Given the description of an element on the screen output the (x, y) to click on. 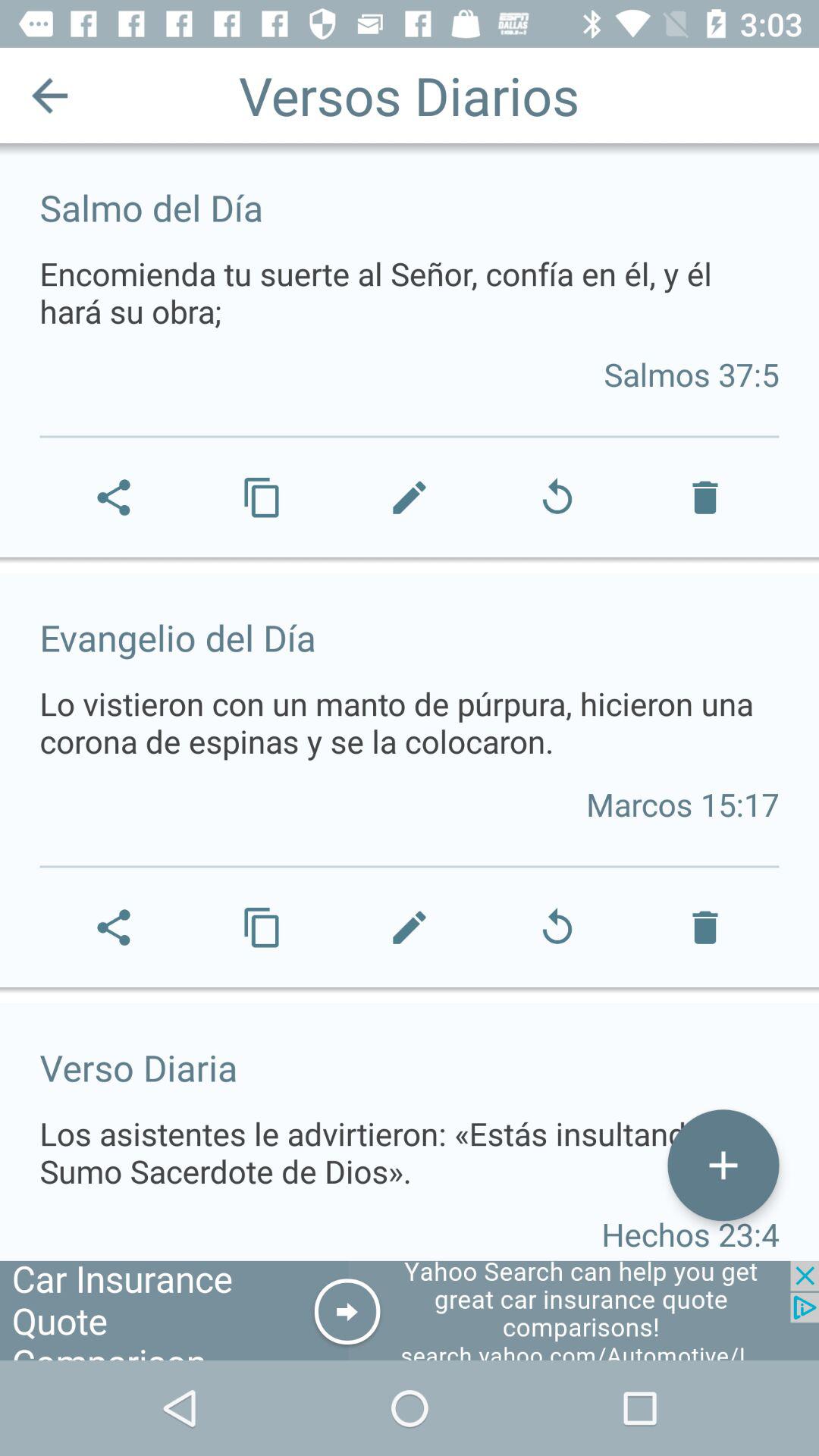
select icon next to the versos diarios icon (49, 95)
